Given the description of an element on the screen output the (x, y) to click on. 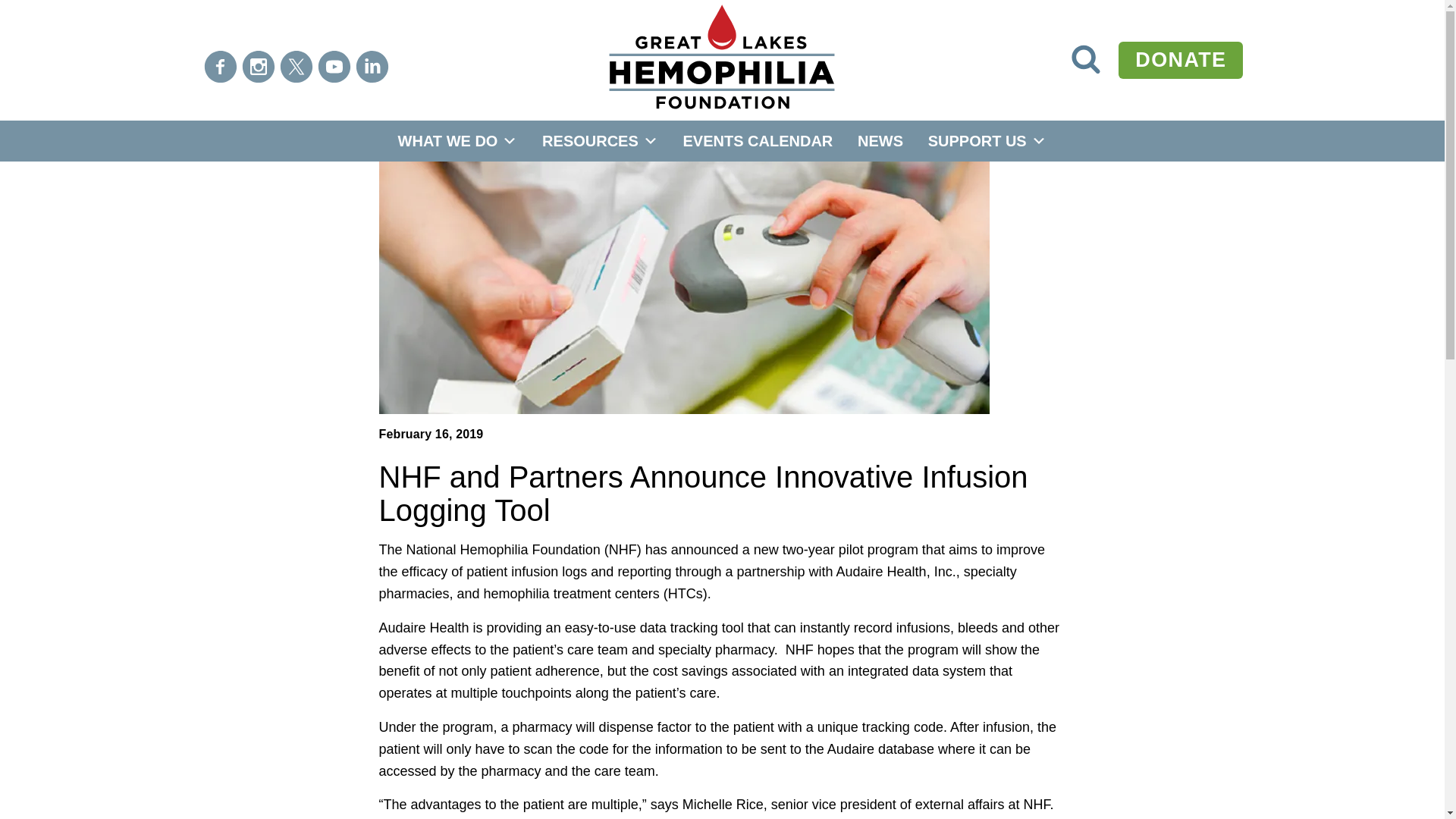
WHAT WE DO (457, 140)
Great Lakes Hemophilia Foundation on Twitter (296, 66)
Great Lakes Hemophilia Foundation on Facebook (219, 66)
EVENTS CALENDAR (756, 140)
SUPPORT US (986, 140)
Great Lakes Hemophilia Foundation on instagram (258, 66)
Great Lakes Hemophilia Foundation on LinkedIn (371, 66)
Great Lakes Hemophilia Foundation on youtube (1085, 59)
NEWS (333, 66)
